Given the description of an element on the screen output the (x, y) to click on. 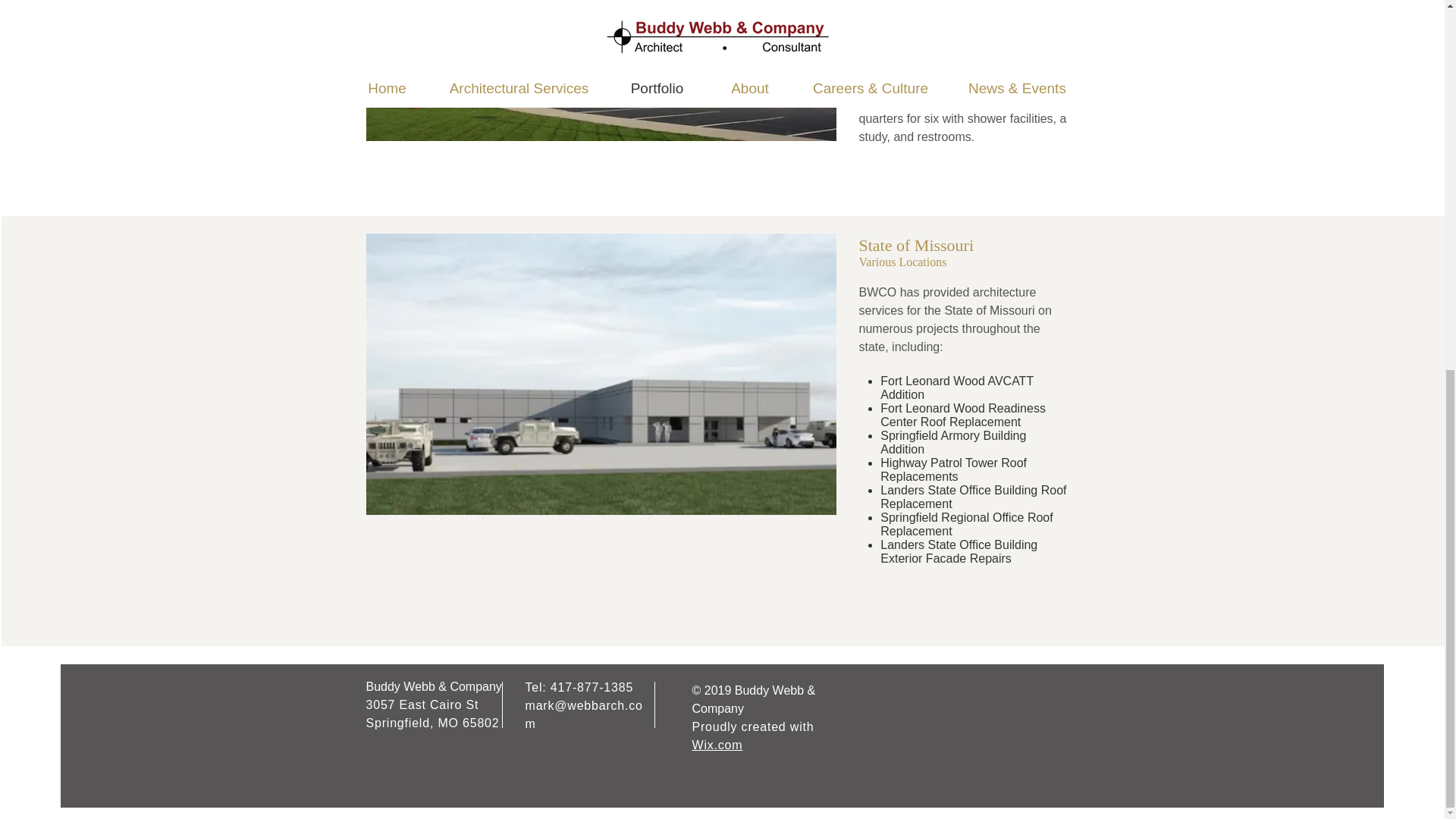
Wix.com (716, 744)
